Given the description of an element on the screen output the (x, y) to click on. 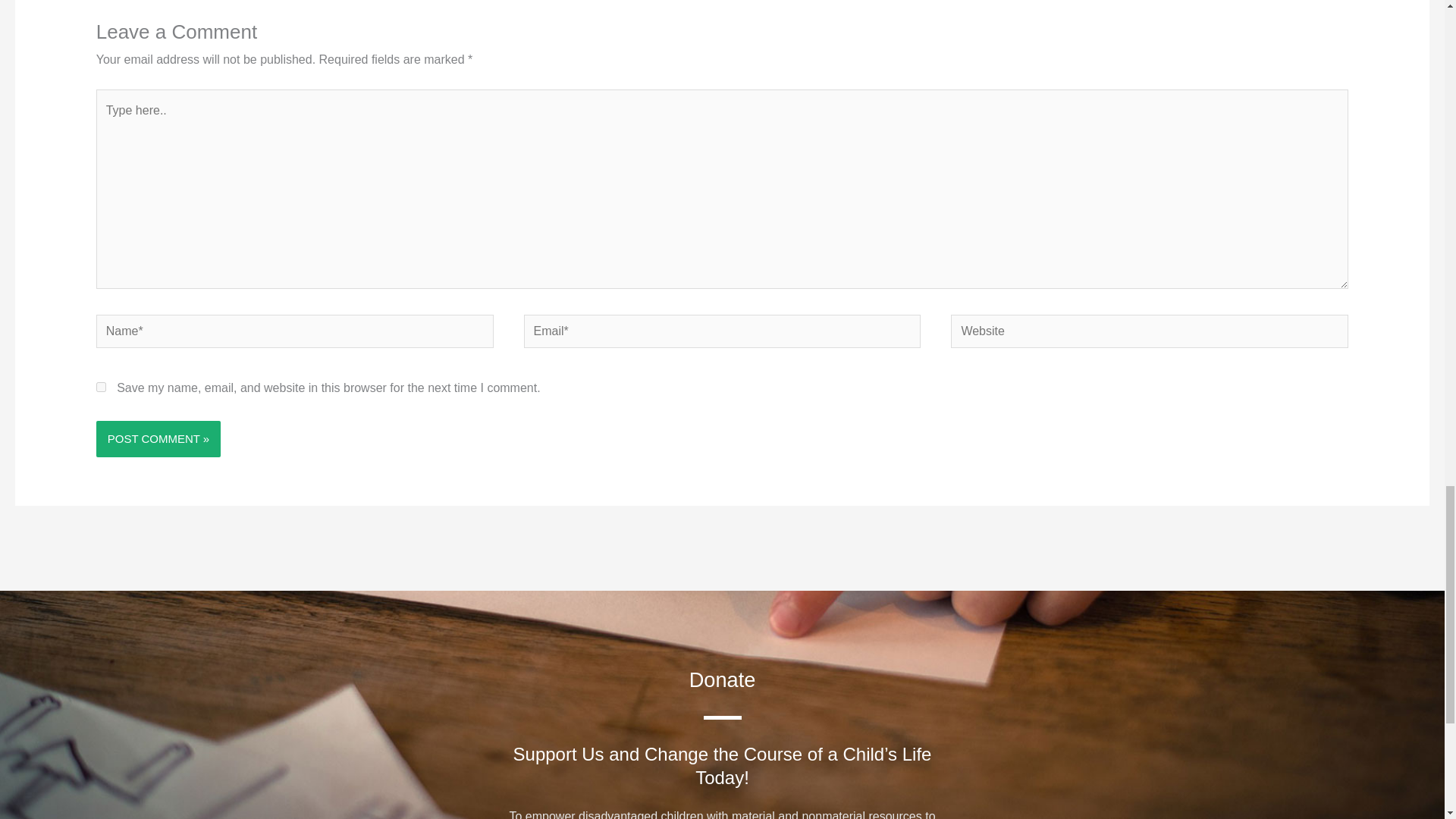
yes (101, 387)
